Given the description of an element on the screen output the (x, y) to click on. 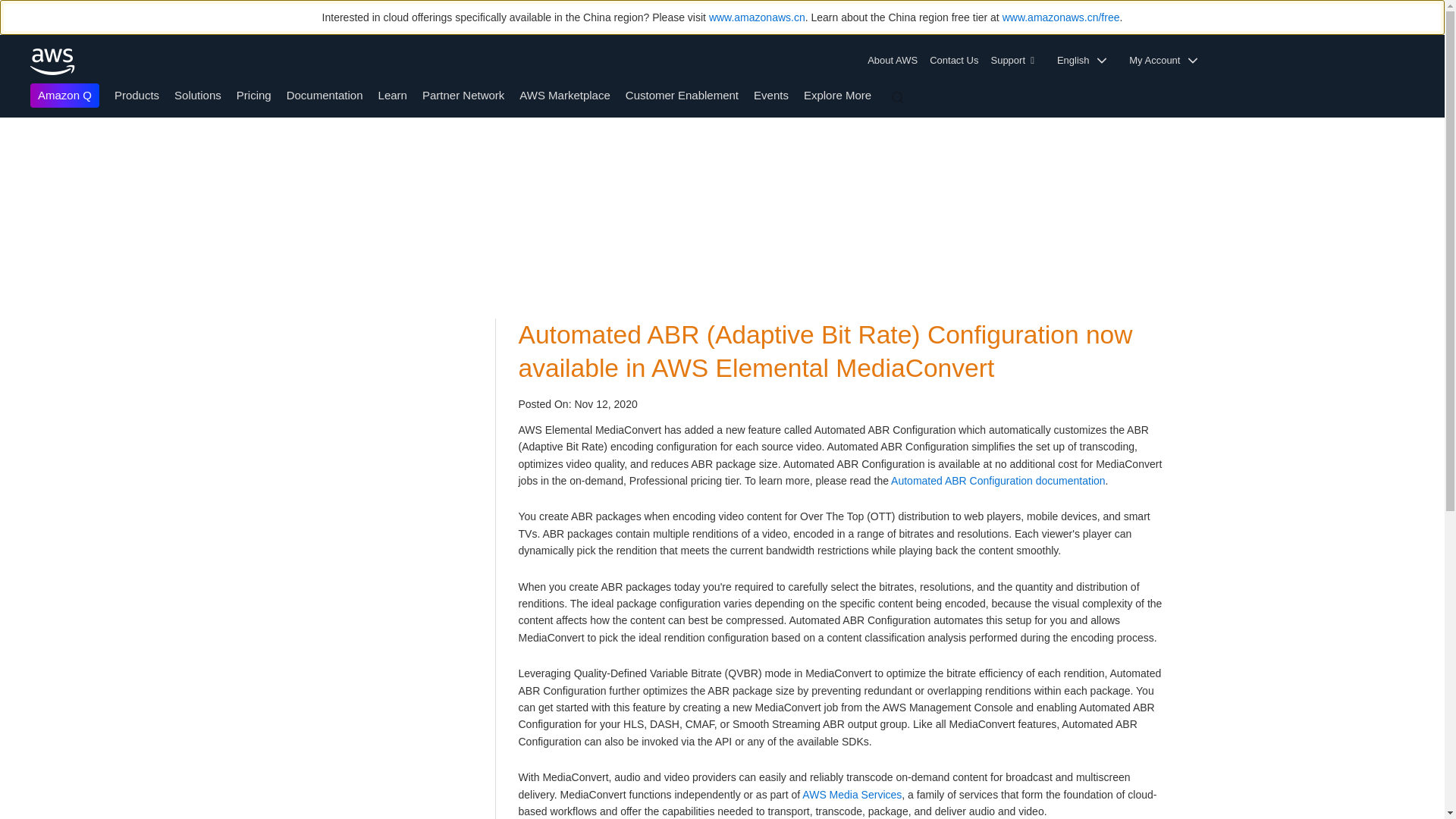
Pricing (252, 94)
Contact Us (953, 60)
Skip to main content (7, 146)
Explore More (836, 94)
Click here to return to Amazon Web Services homepage (52, 61)
English   (1086, 60)
AWS Marketplace (564, 94)
Amazon Q (64, 95)
Solutions (197, 94)
Products (136, 94)
Support  (1016, 60)
Learn (392, 94)
Partner Network (462, 94)
Customer Enablement (682, 94)
Documentation (324, 94)
